Given the description of an element on the screen output the (x, y) to click on. 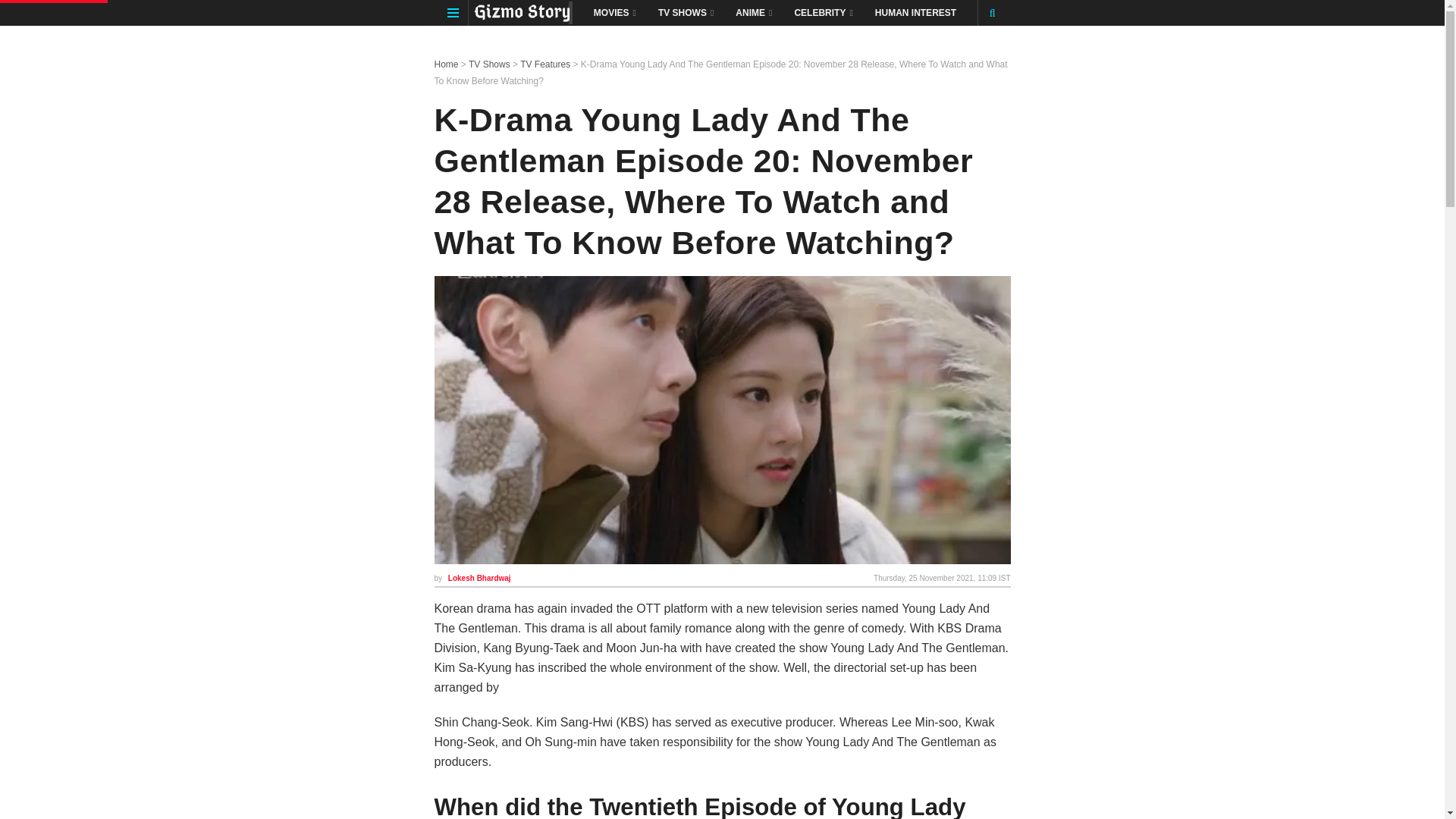
Go to the TV Features Category archives. (544, 63)
Go to Gizmo Story. (445, 63)
ANIME (752, 12)
MOVIES (613, 12)
HUMAN INTEREST (915, 12)
CELEBRITY (821, 12)
Go to the TV Shows Category archives. (489, 63)
TV SHOWS (684, 12)
